Given the description of an element on the screen output the (x, y) to click on. 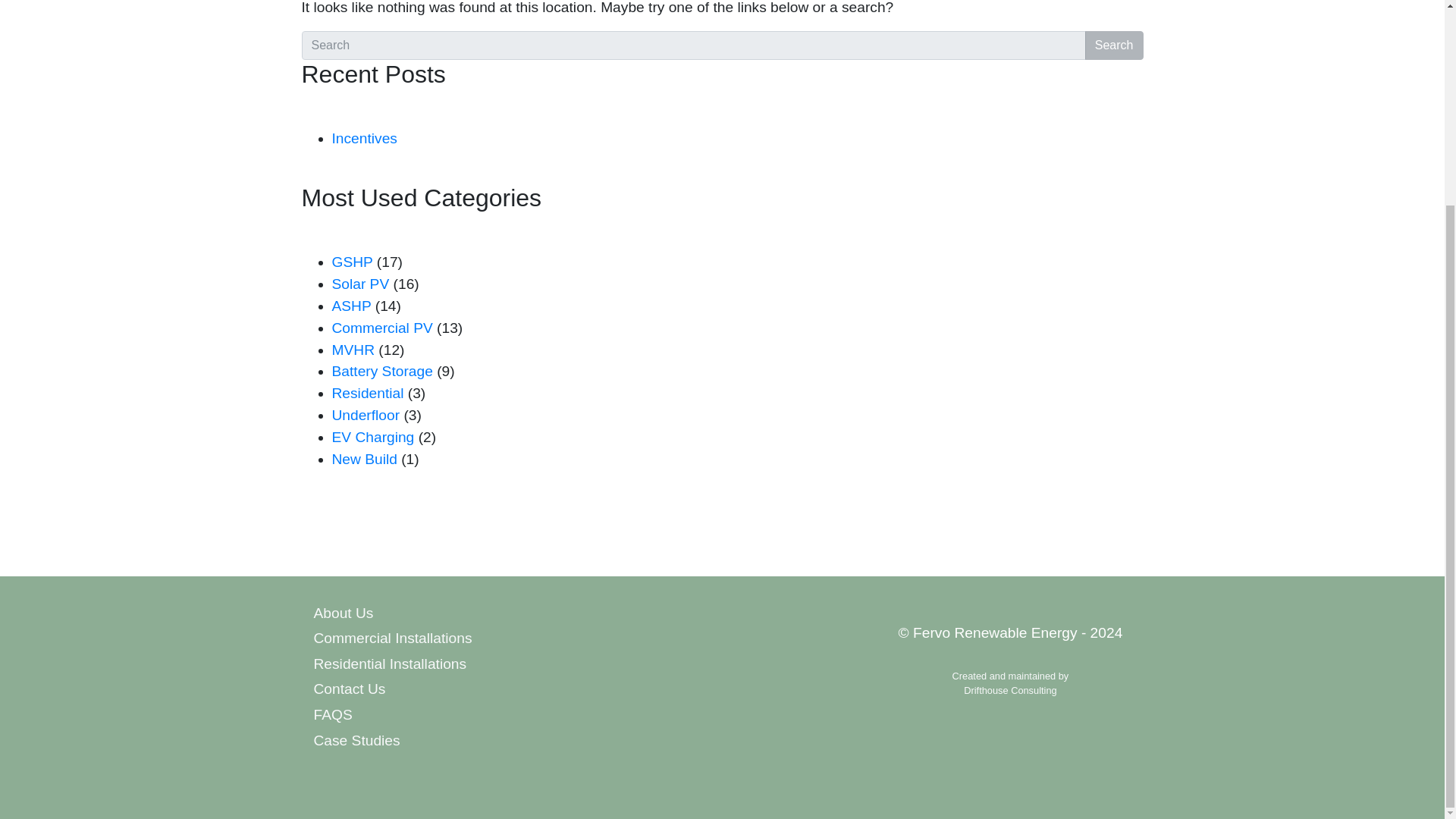
Solar PV (360, 283)
Incentives (364, 138)
Commercial Installations (434, 638)
FAQS (434, 715)
Battery Storage (381, 371)
Residential Installations (434, 664)
MVHR (353, 349)
Commercial PV (381, 327)
Residential (367, 392)
Search (1113, 45)
ASHP (351, 305)
Contact Us (434, 689)
New Build (364, 458)
EV Charging (372, 437)
About Us (434, 613)
